Given the description of an element on the screen output the (x, y) to click on. 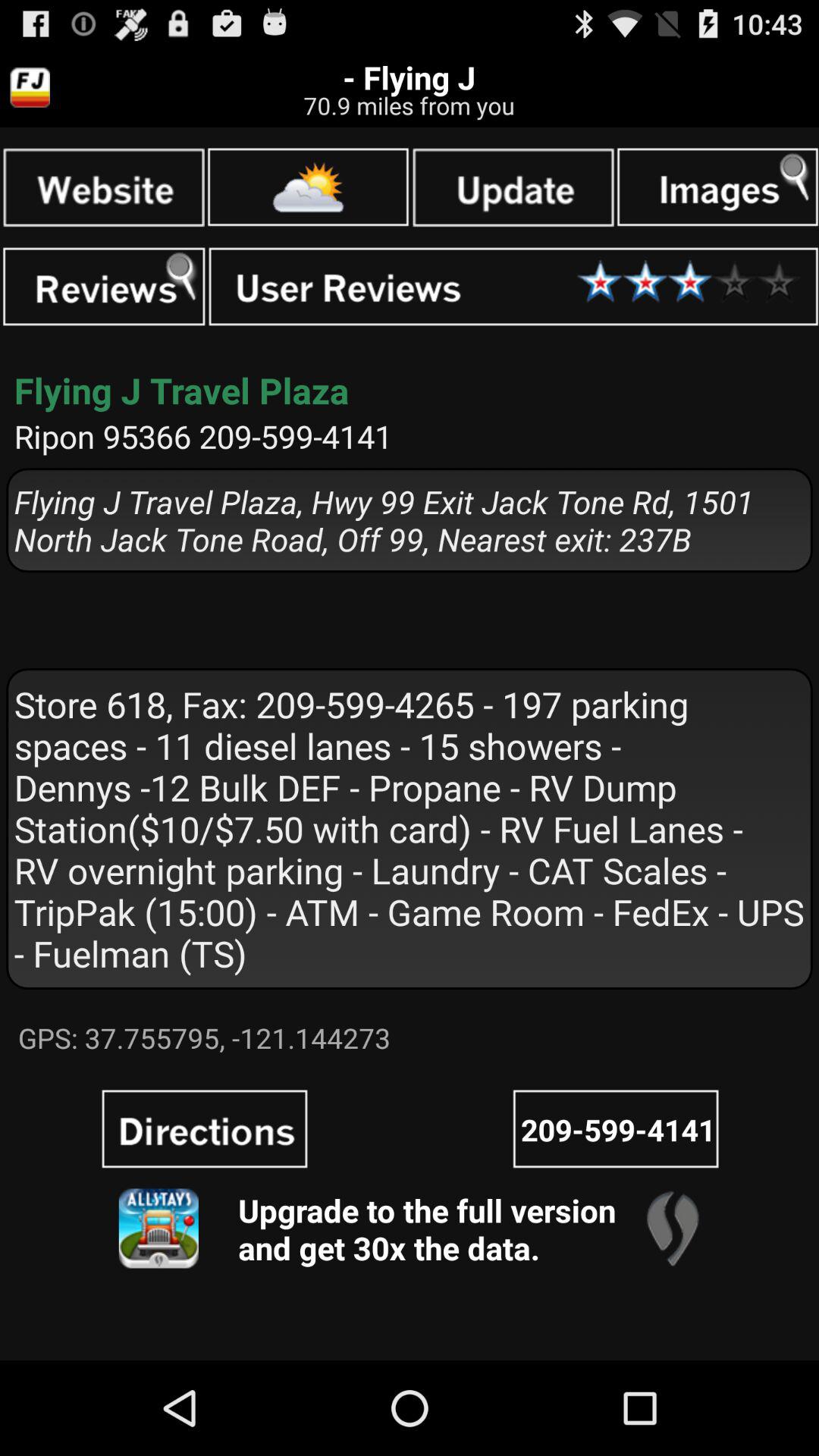
check the weather at the location (308, 186)
